Given the description of an element on the screen output the (x, y) to click on. 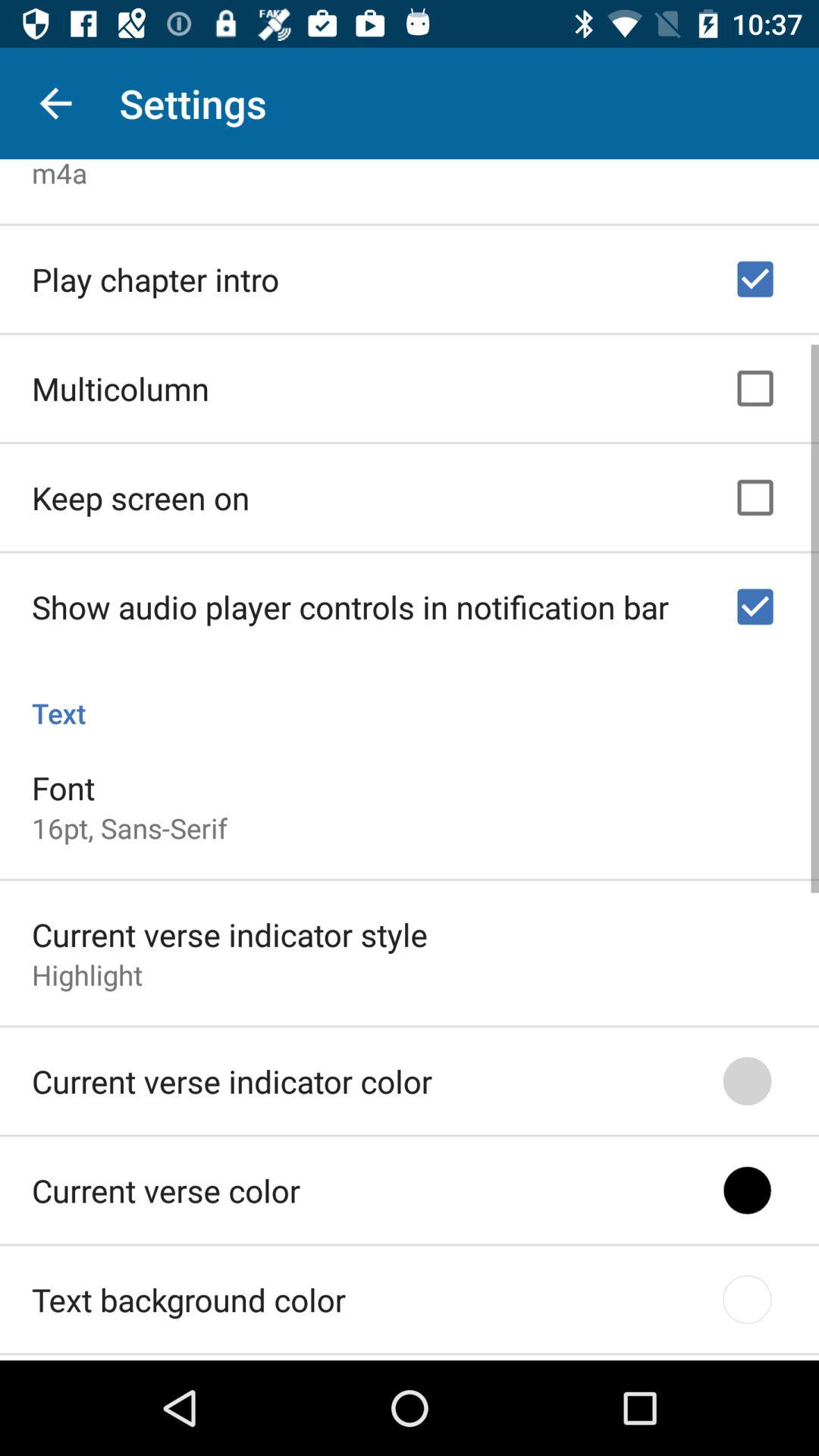
flip until play chapter intro icon (155, 274)
